Given the description of an element on the screen output the (x, y) to click on. 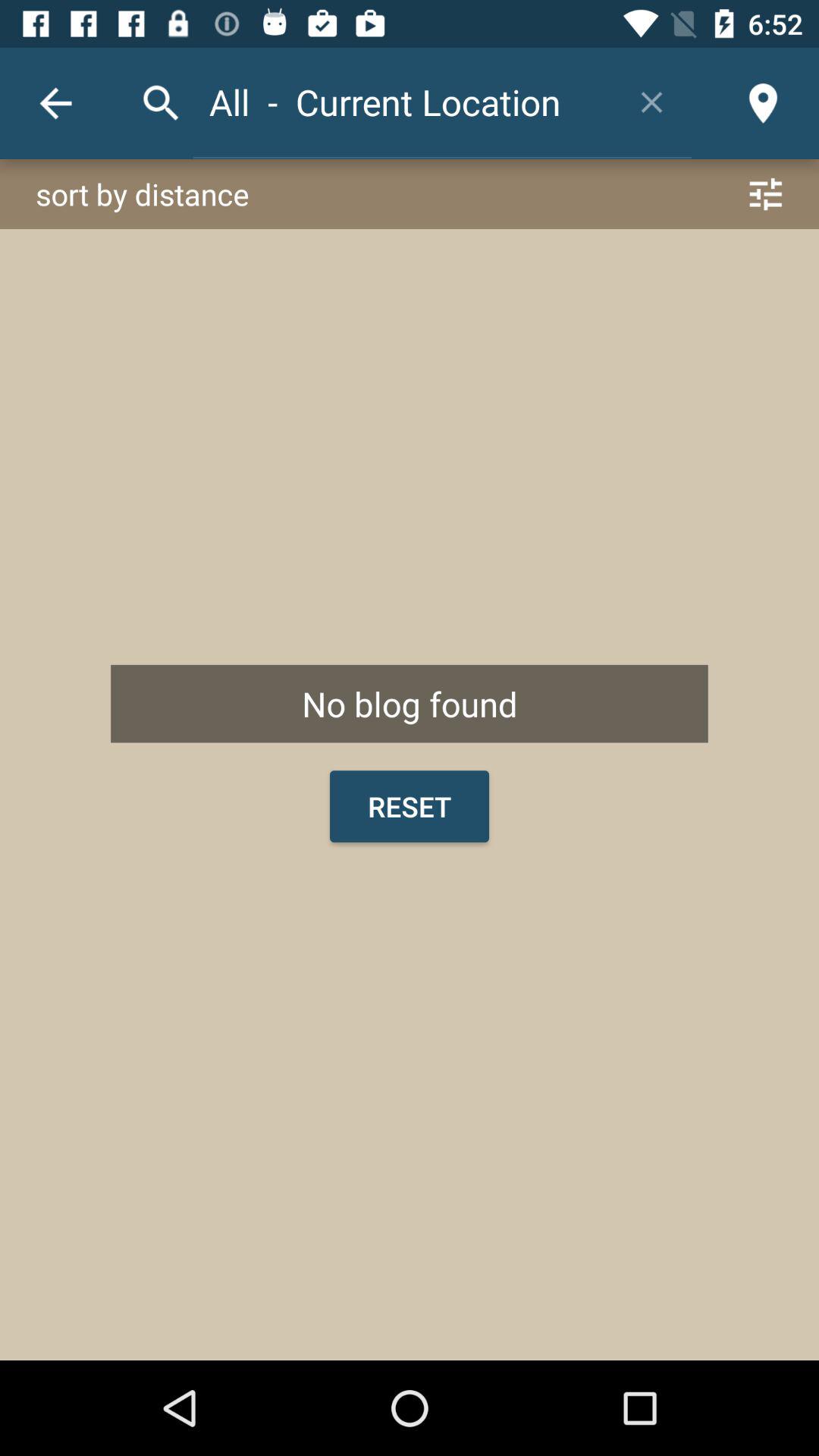
turn on sort by distance item (409, 194)
